Given the description of an element on the screen output the (x, y) to click on. 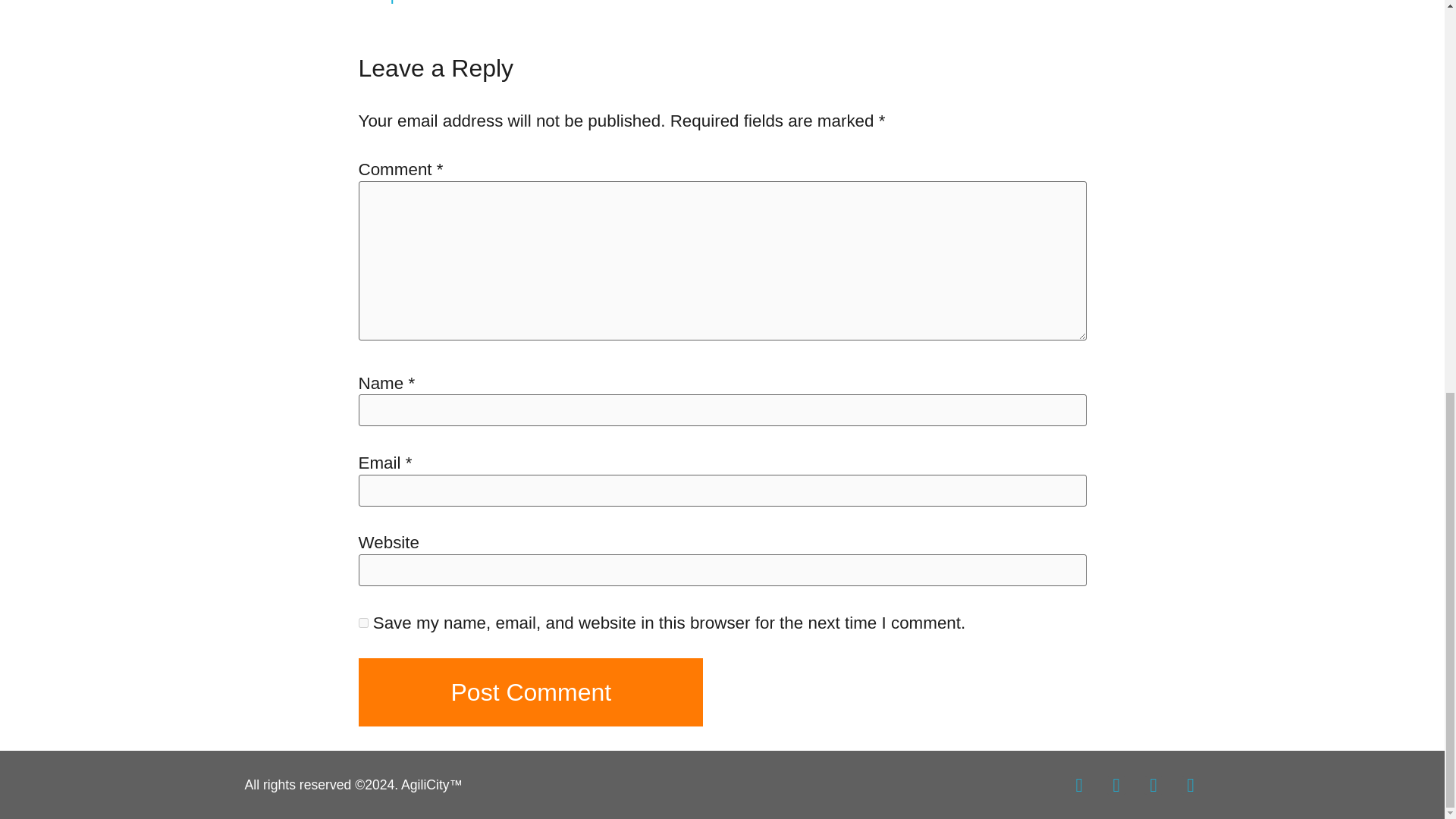
yes (363, 623)
Post Comment (530, 692)
Post Comment (530, 692)
competition website (432, 2)
